Given the description of an element on the screen output the (x, y) to click on. 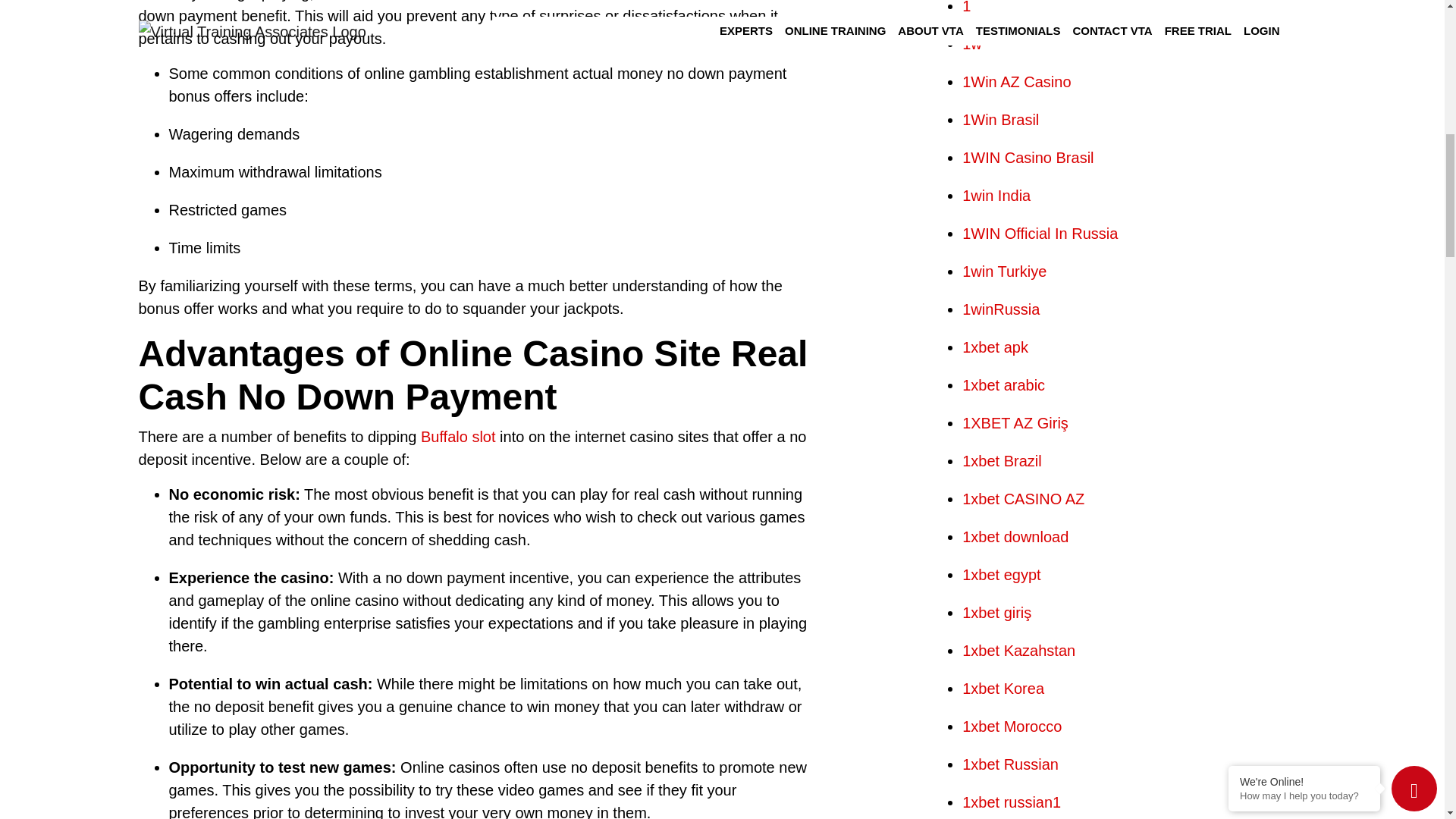
1Win Brasil (1000, 119)
1xbet apk (994, 347)
1Win AZ Casino (1016, 81)
1winRussia (1000, 309)
1xbet arabic (1003, 384)
1win India (996, 195)
1win Turkiye (1004, 271)
1 (966, 7)
Buffalo slot (458, 436)
1WIN Casino Brasil (1027, 157)
1w (971, 44)
1WIN Official In Russia (1040, 233)
